Given the description of an element on the screen output the (x, y) to click on. 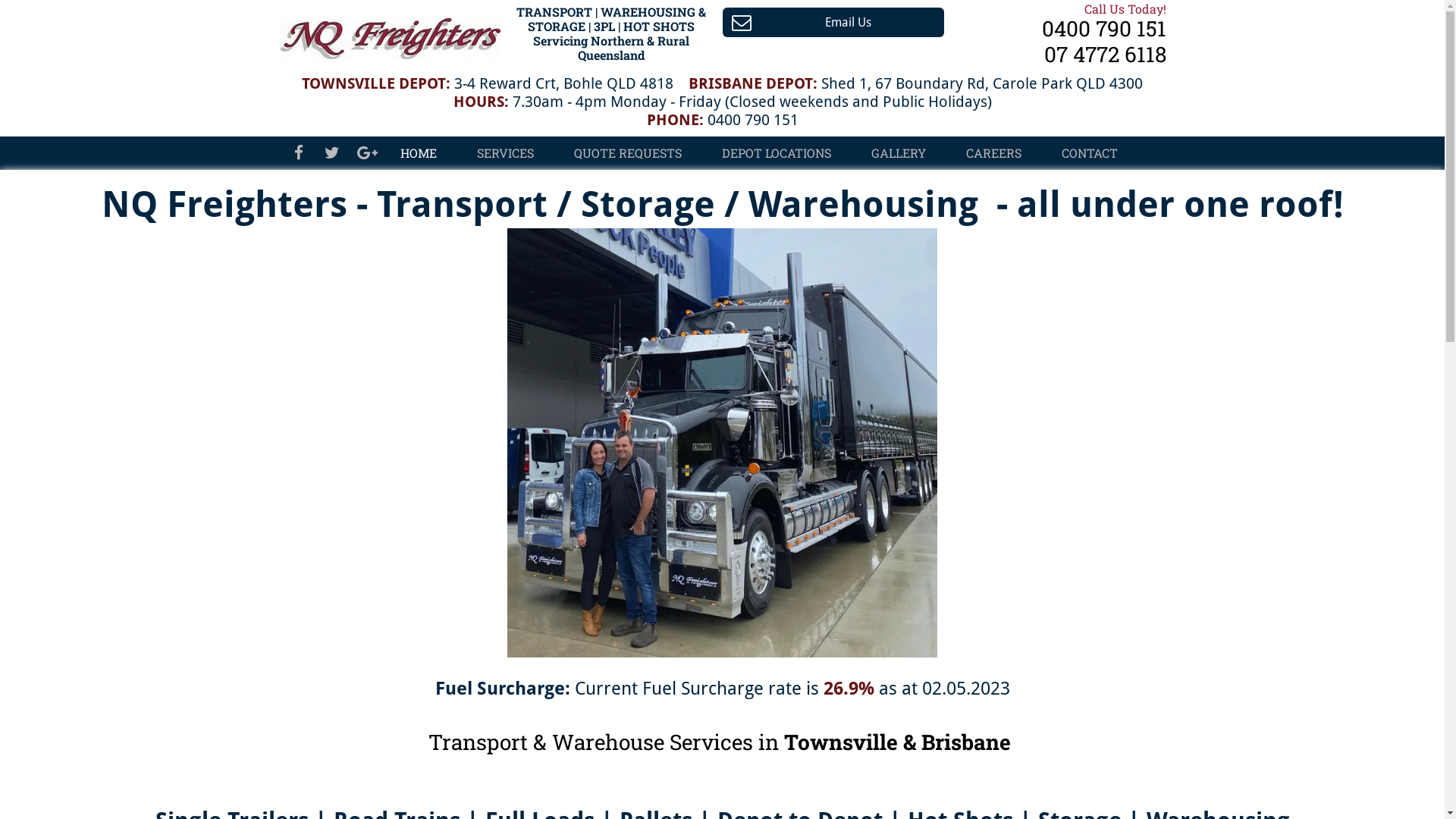
HOME Element type: text (418, 153)
Email Us Element type: text (832, 22)
CONTACT Element type: text (1089, 153)
QUOTE REQUESTS Element type: text (626, 153)
DEPOT LOCATIONS Element type: text (776, 153)
GALLERY Element type: text (897, 153)
SERVICES Element type: text (504, 153)
CAREERS Element type: text (993, 153)
07 4772 6118 Element type: text (1104, 54)
NQ Freighters logo Element type: hover (390, 33)
 0400 790 151 Element type: text (1100, 28)
